Given the description of an element on the screen output the (x, y) to click on. 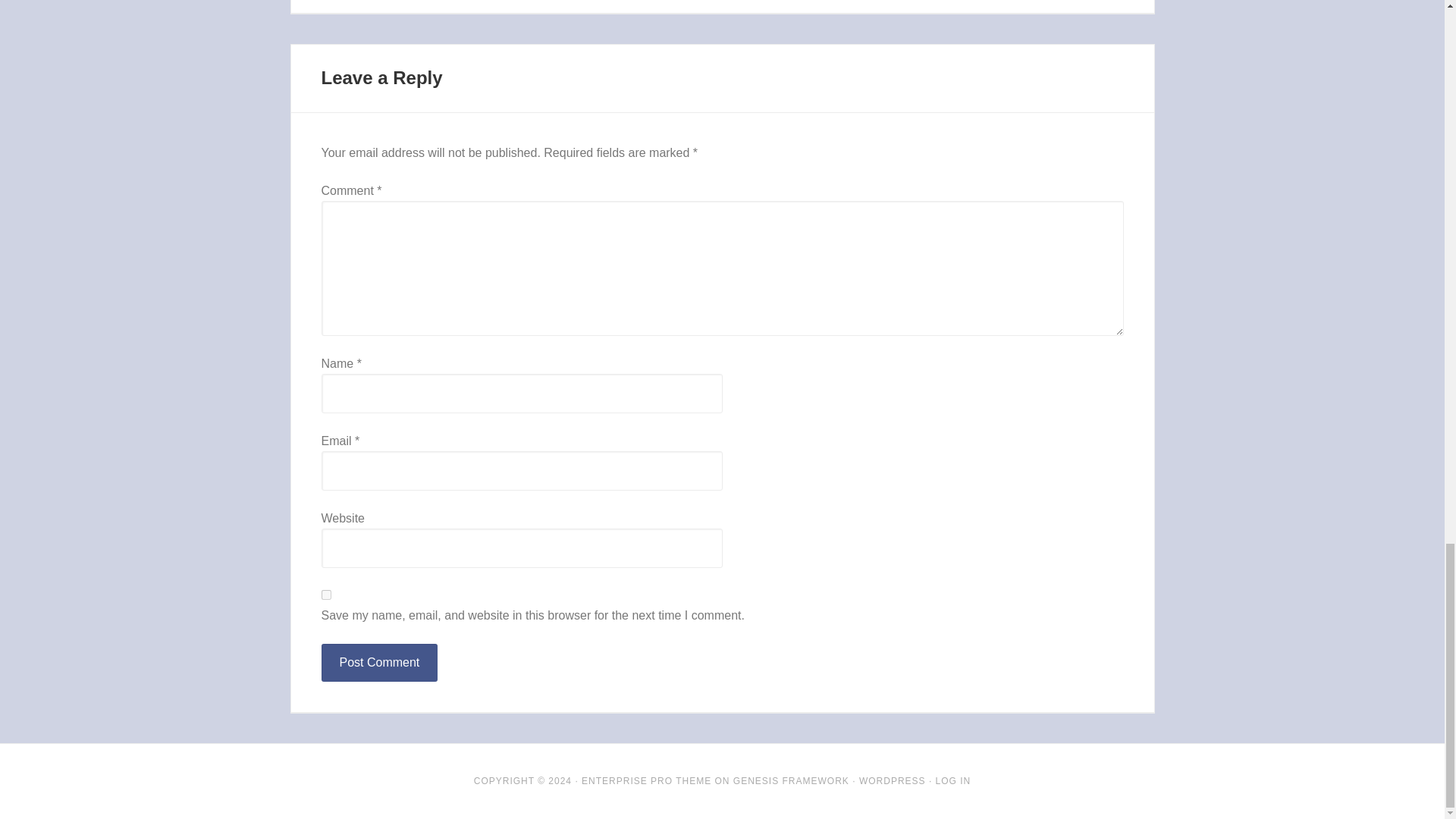
Post Comment (379, 662)
GENESIS FRAMEWORK (790, 780)
ENTERPRISE PRO THEME (645, 780)
Post Comment (379, 662)
WORDPRESS (892, 780)
yes (326, 594)
LOG IN (953, 780)
